Given the description of an element on the screen output the (x, y) to click on. 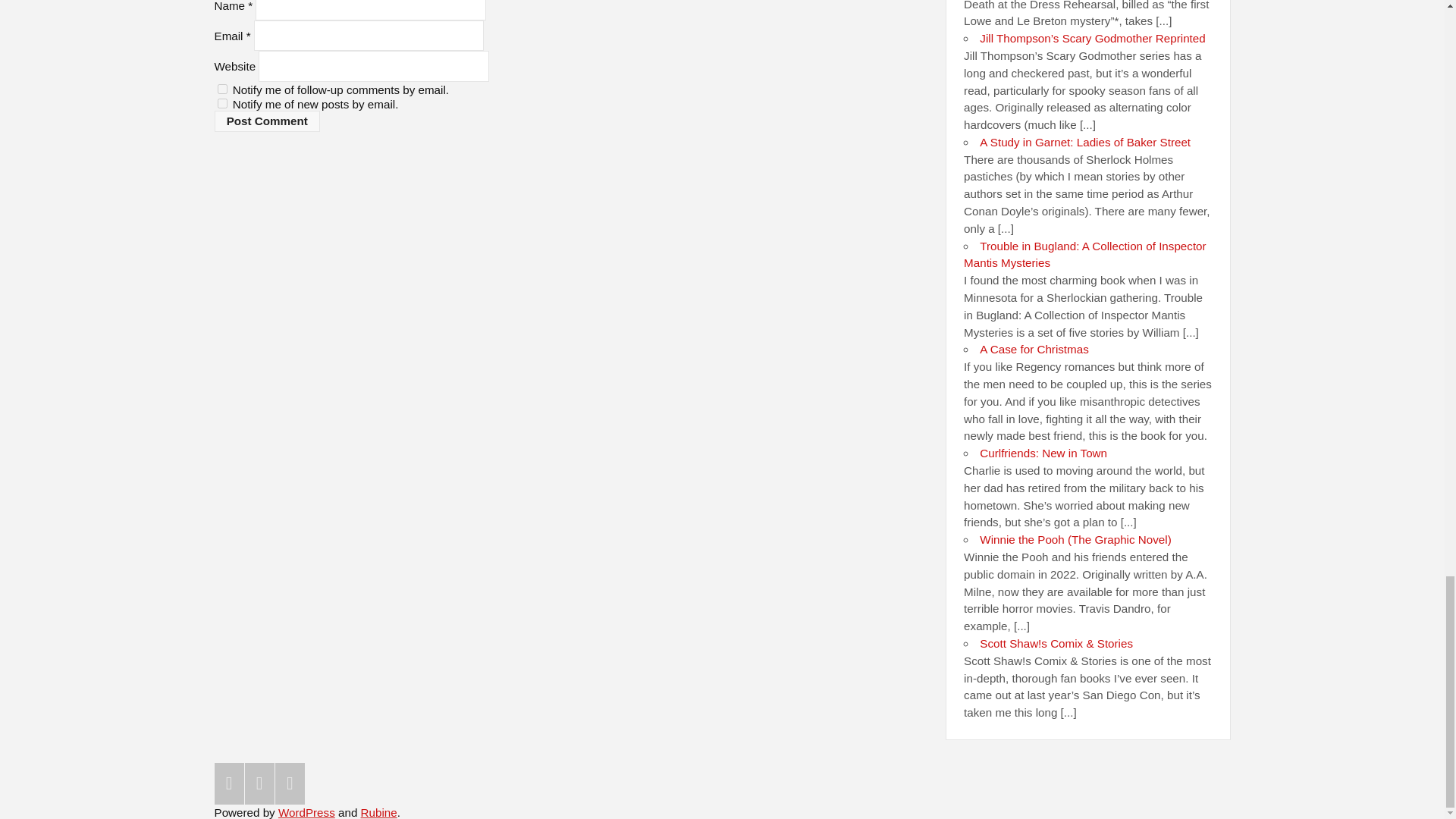
Post Comment (267, 120)
subscribe (221, 103)
subscribe (221, 89)
Post Comment (267, 120)
